Given the description of an element on the screen output the (x, y) to click on. 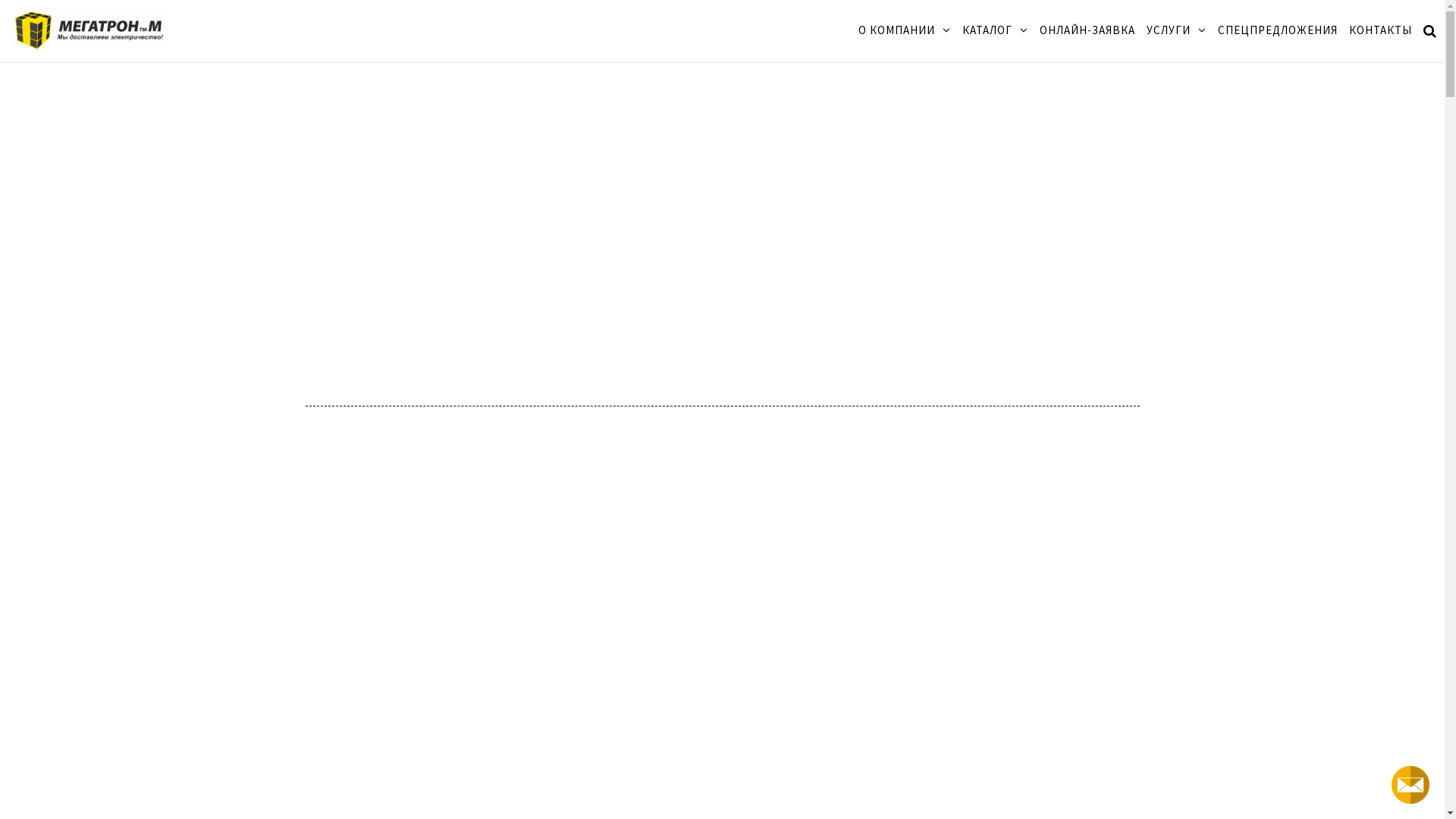
MEGATRON Element type: text (243, 42)
